Given the description of an element on the screen output the (x, y) to click on. 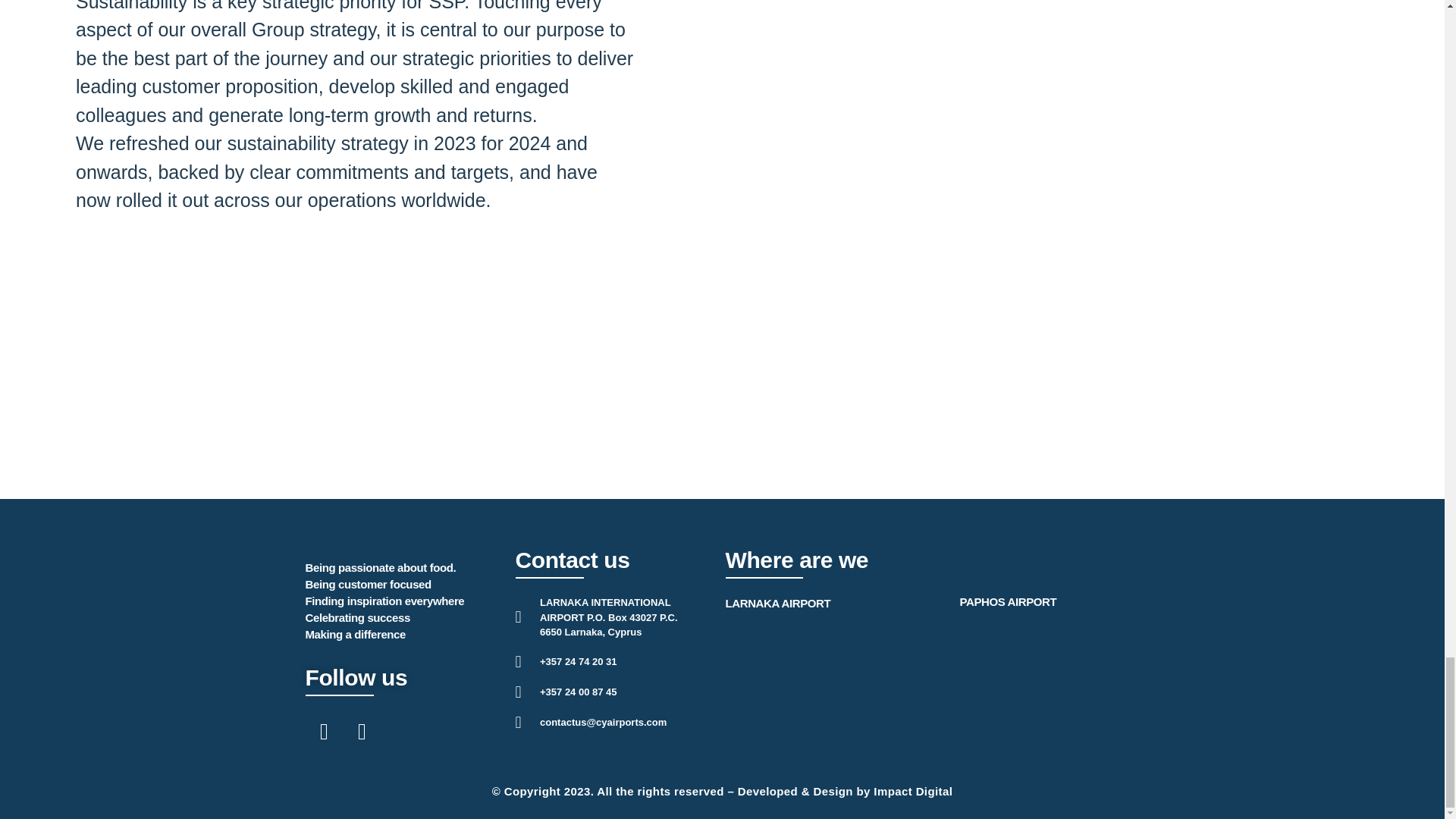
paphos airport (1048, 692)
larnaka airport (827, 693)
